Given the description of an element on the screen output the (x, y) to click on. 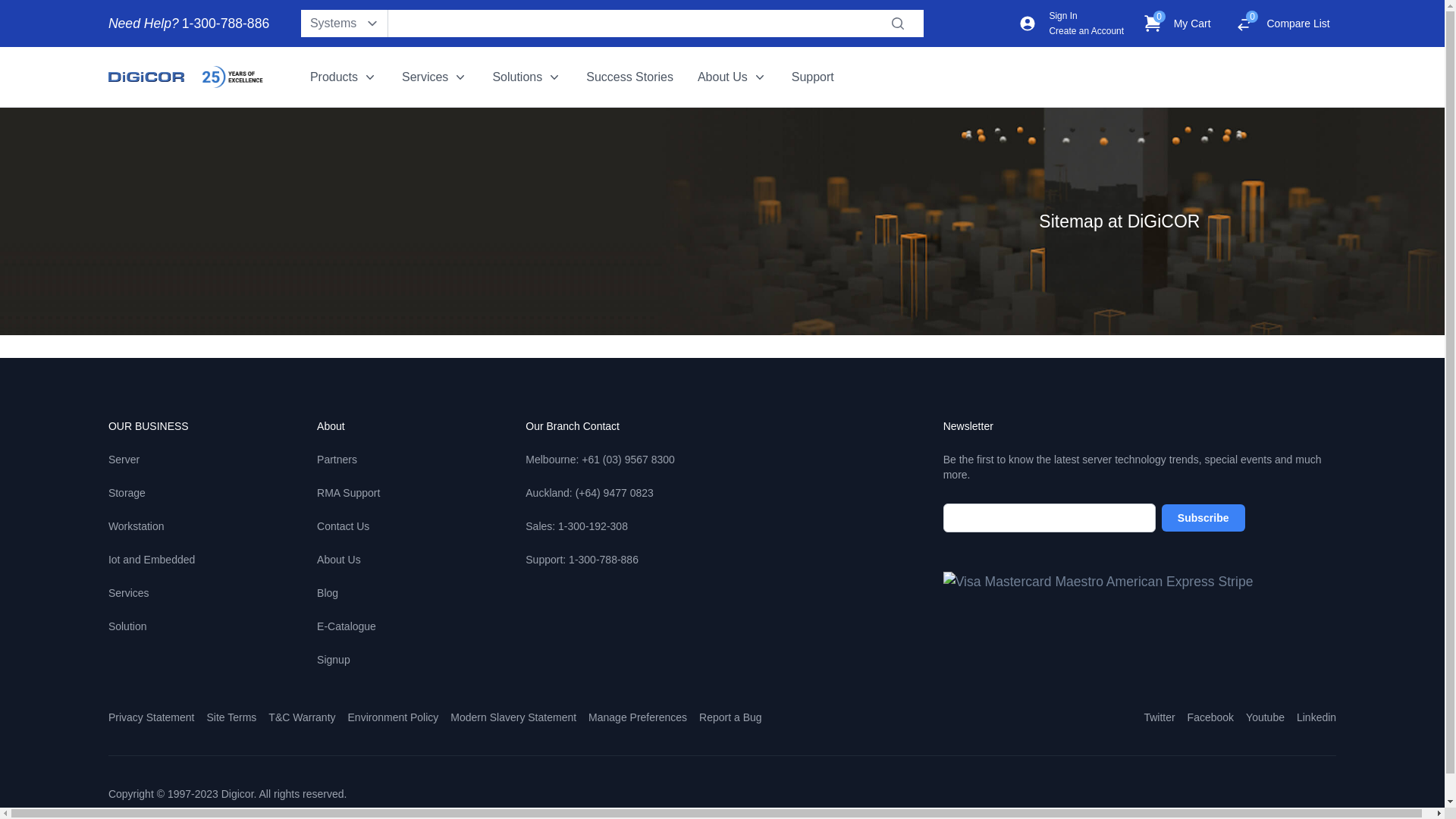
Melbourne: +61 (03) 9567 8300 Element type: text (599, 459)
Twitter Element type: text (1158, 717)
Solutions Element type: text (527, 77)
Privacy Statement Element type: text (151, 717)
Manage Preferences Element type: text (637, 717)
Signup Element type: text (333, 659)
Solution Element type: text (127, 626)
Facebook Element type: text (1210, 717)
Report a Bug Element type: text (730, 717)
Auckland: (+64) 9477 0823 Element type: text (589, 492)
Sales: 1-300-192-308 Element type: text (576, 526)
Linkedin Element type: text (1316, 717)
Support Element type: text (812, 77)
T&C Warranty Element type: text (301, 717)
About Us Element type: text (338, 559)
Services Element type: text (434, 77)
Products Element type: text (343, 77)
Storage Element type: text (126, 492)
Subscribe Element type: text (1203, 517)
Server Element type: text (123, 459)
Iot and Embedded Element type: text (151, 559)
Create an Account Element type: text (1085, 31)
RMA Support Element type: text (347, 492)
Sign In Element type: text (1062, 15)
Environment Policy Element type: text (393, 717)
Success Stories Element type: text (629, 77)
Youtube Element type: text (1264, 717)
Blog Element type: text (327, 592)
0
My Cart Element type: text (1176, 23)
Partners Element type: text (336, 459)
Modern Slavery Statement Element type: text (513, 717)
About Us Element type: text (732, 77)
E-Catalogue Element type: text (346, 626)
0
Compare List Element type: text (1283, 23)
Workstation Element type: text (136, 526)
Contact Us Element type: text (342, 526)
Services Element type: text (128, 592)
Site Terms Element type: text (231, 717)
Support: 1-300-788-886 Element type: text (581, 559)
